Given the description of an element on the screen output the (x, y) to click on. 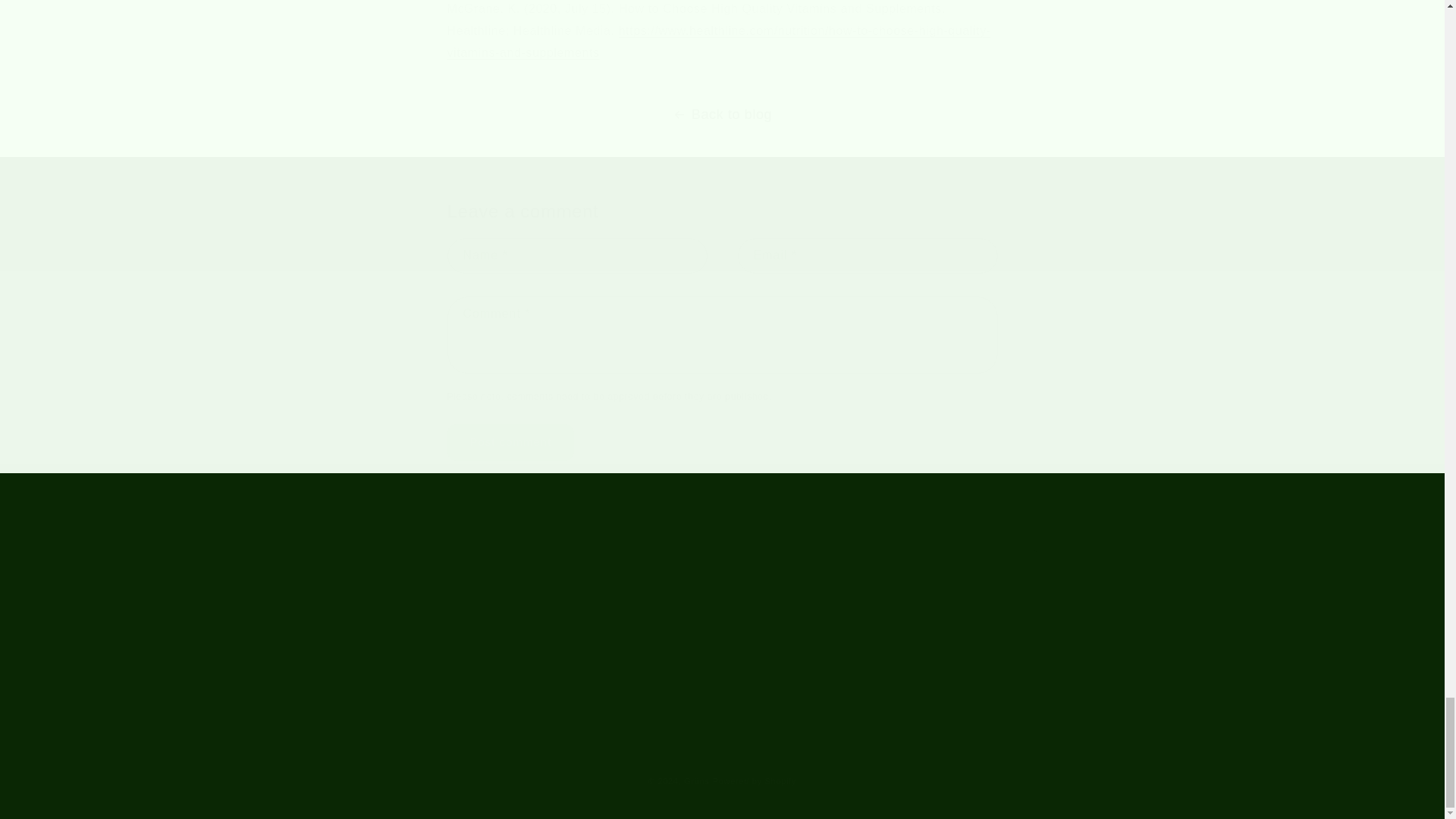
women's best- gruns (718, 41)
Post comment (510, 442)
our story (502, 645)
reviews (499, 594)
Post comment (510, 442)
